Given the description of an element on the screen output the (x, y) to click on. 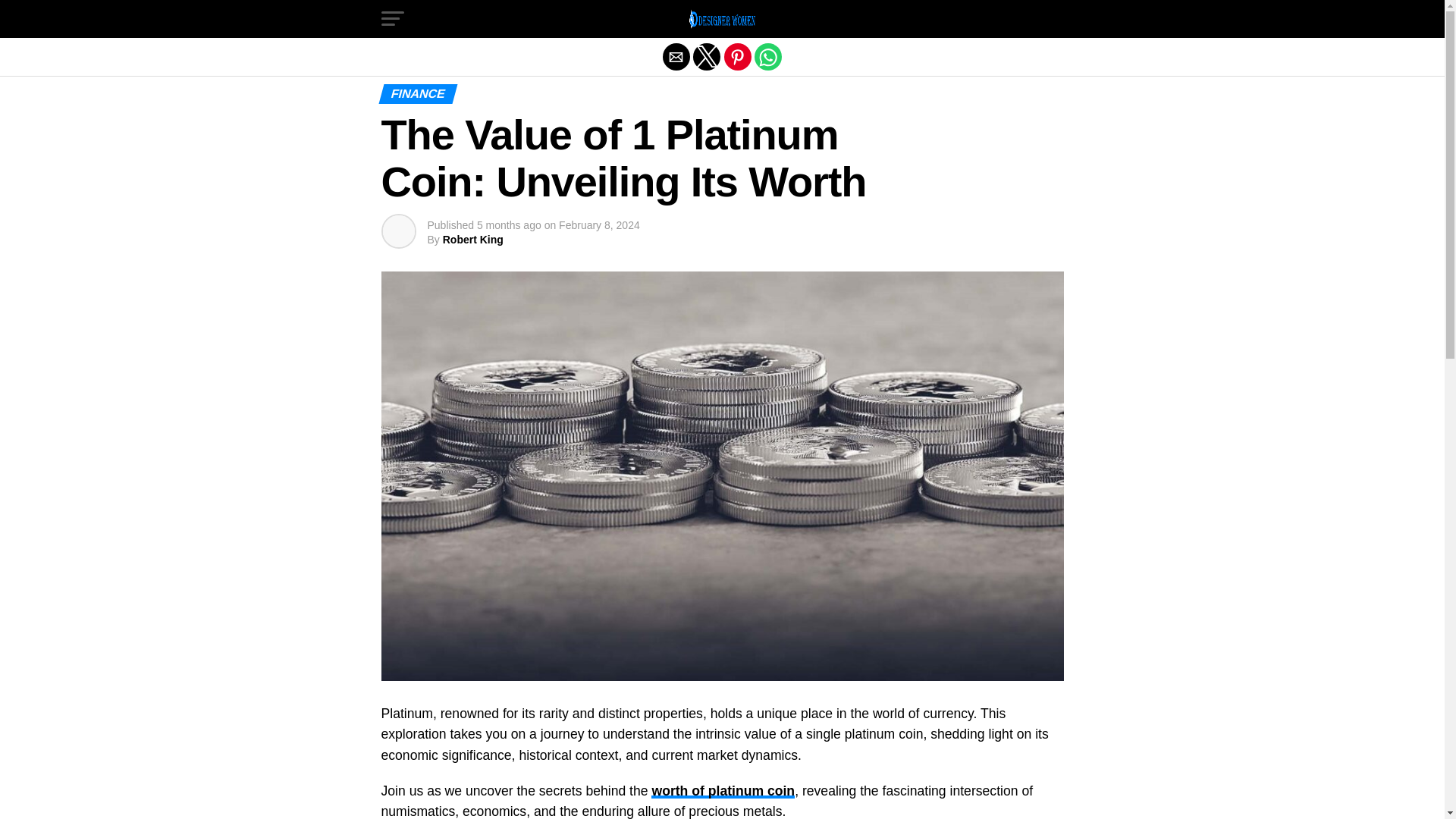
worth of platinum coin (722, 790)
Posts by Robert King (472, 239)
Robert King (472, 239)
